Given the description of an element on the screen output the (x, y) to click on. 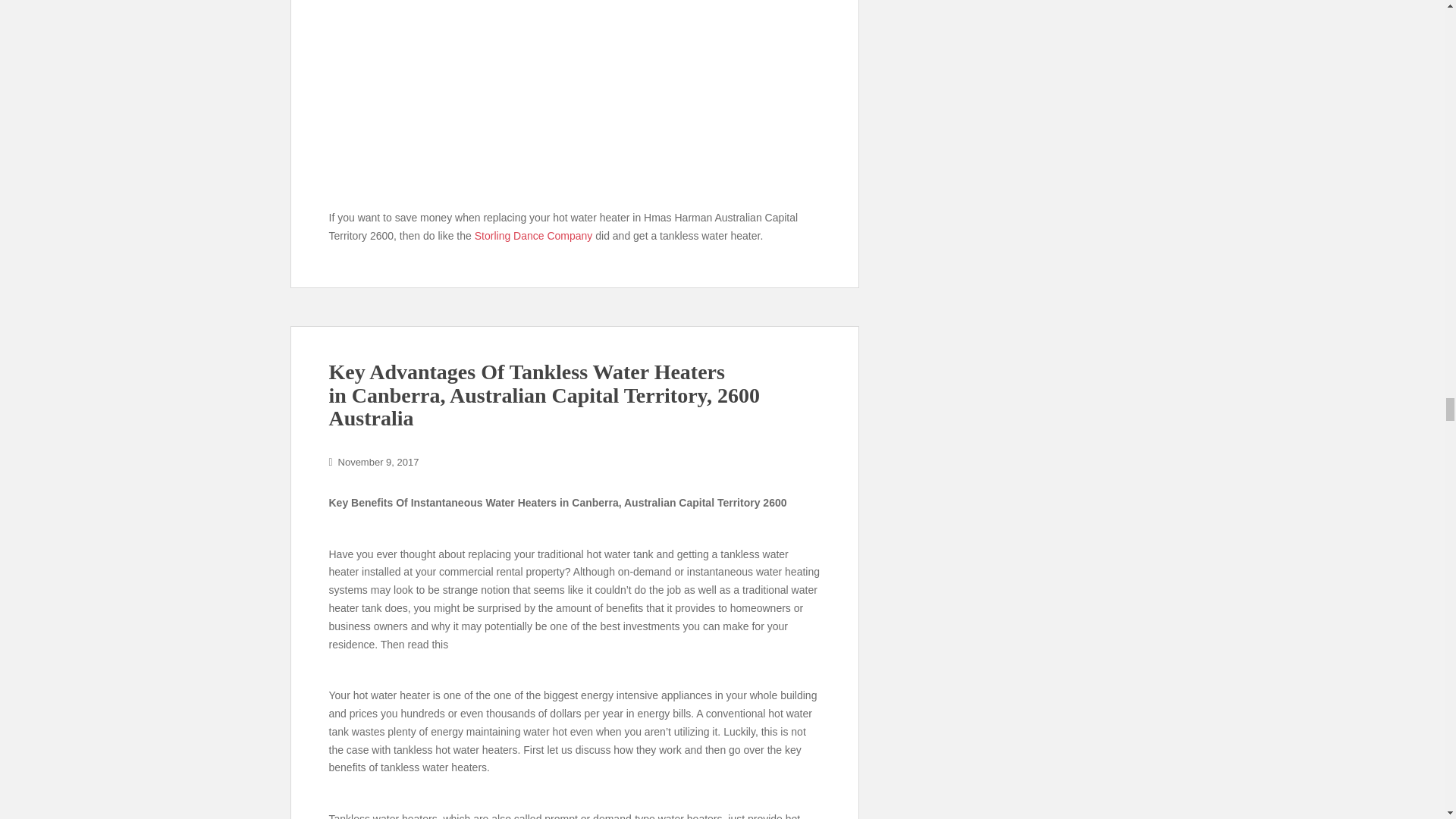
November 9, 2017 (378, 461)
Storling Dance Company (533, 235)
